Given the description of an element on the screen output the (x, y) to click on. 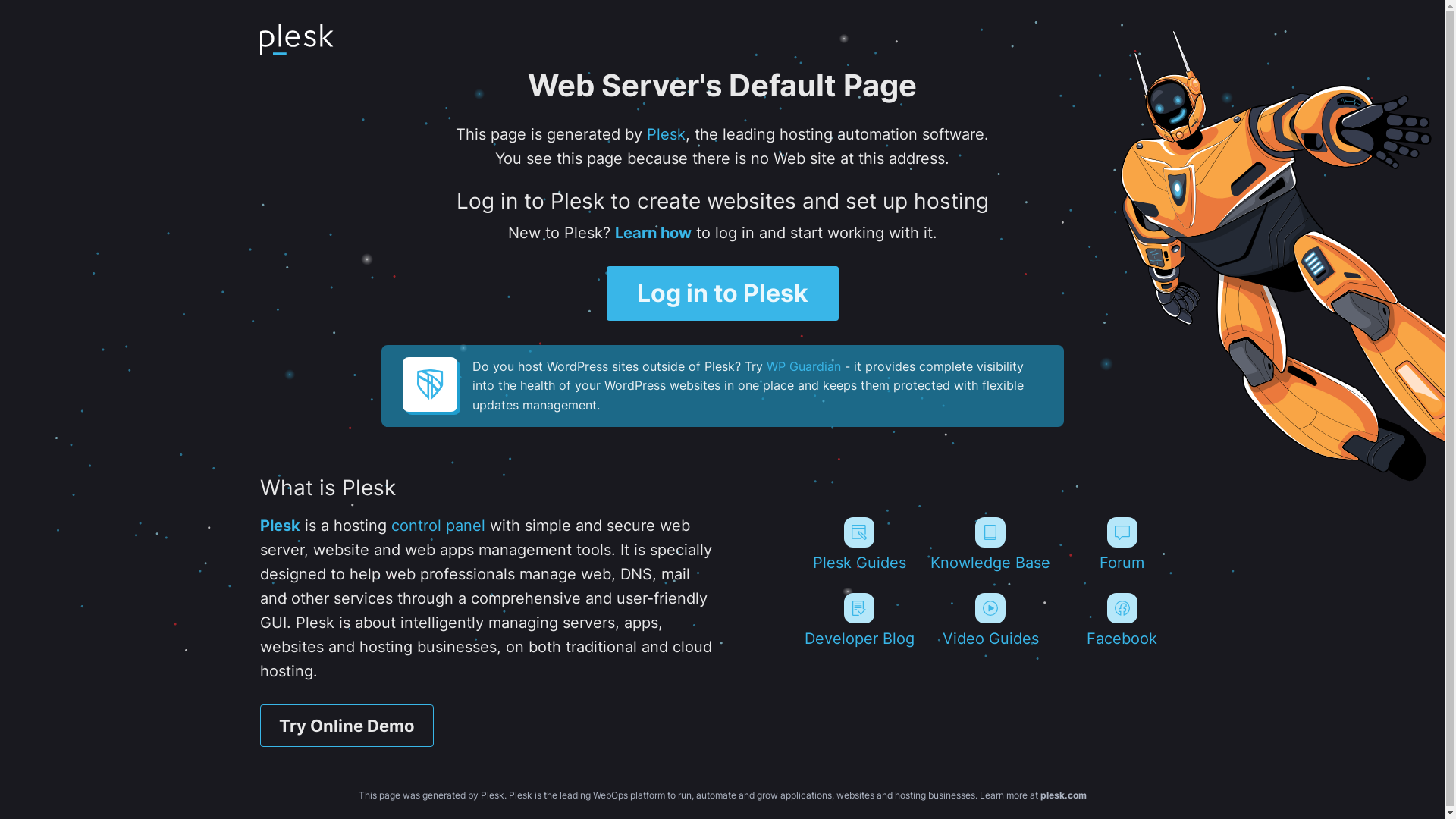
control panel Element type: text (438, 525)
Plesk Element type: text (279, 525)
Learn how Element type: text (652, 232)
Video Guides Element type: text (990, 620)
Plesk Guides Element type: text (858, 544)
Forum Element type: text (1121, 544)
plesk.com Element type: text (1063, 794)
Log in to Plesk Element type: text (722, 293)
Developer Blog Element type: text (858, 620)
Facebook Element type: text (1121, 620)
Try Online Demo Element type: text (346, 725)
WP Guardian Element type: text (802, 365)
Plesk Element type: text (665, 134)
Knowledge Base Element type: text (990, 544)
